Given the description of an element on the screen output the (x, y) to click on. 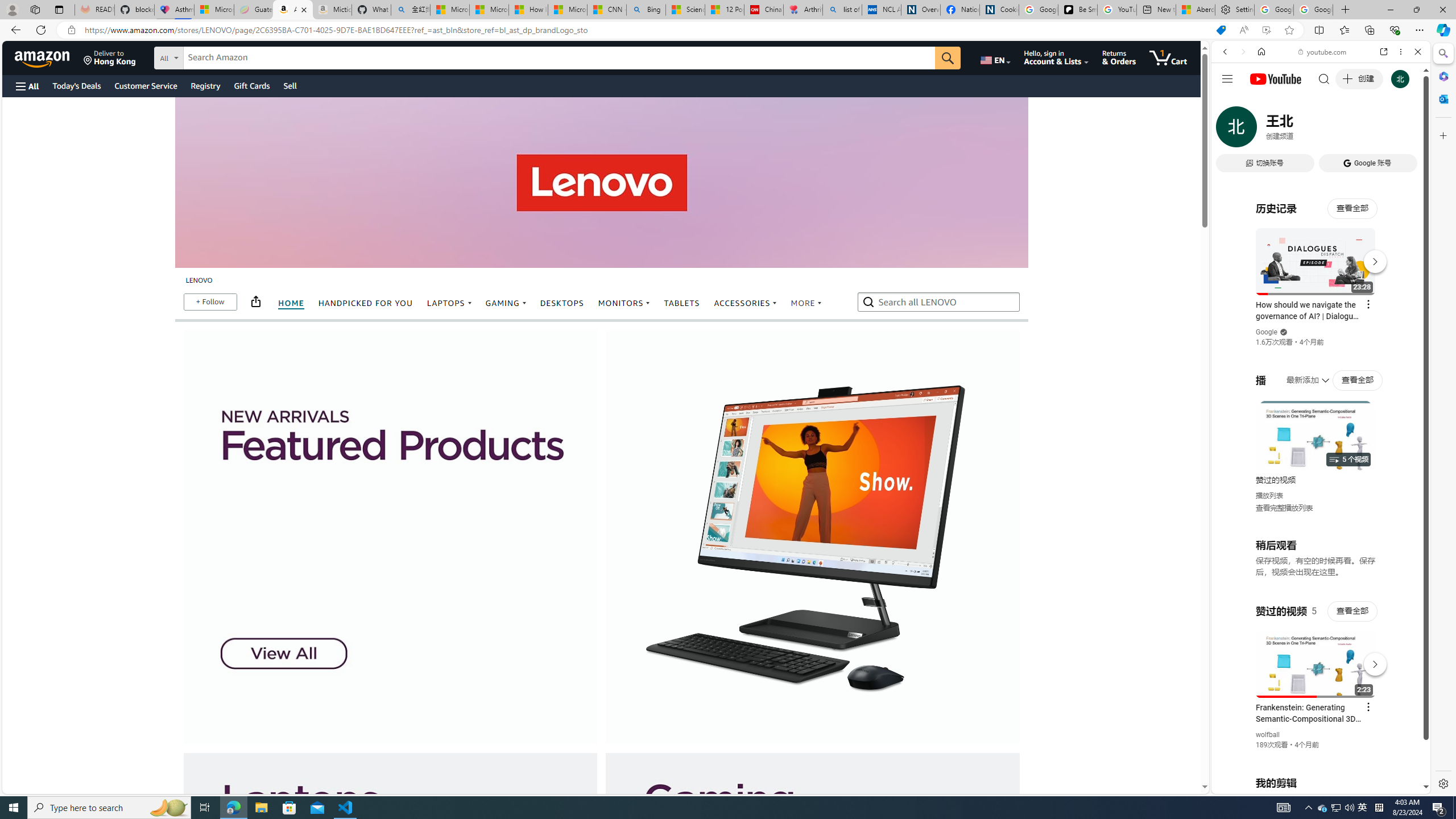
Search Amazon (559, 57)
you (1315, 755)
wolfball (1268, 734)
ACCESSORIES (745, 302)
Enhance video (1266, 29)
